Given the description of an element on the screen output the (x, y) to click on. 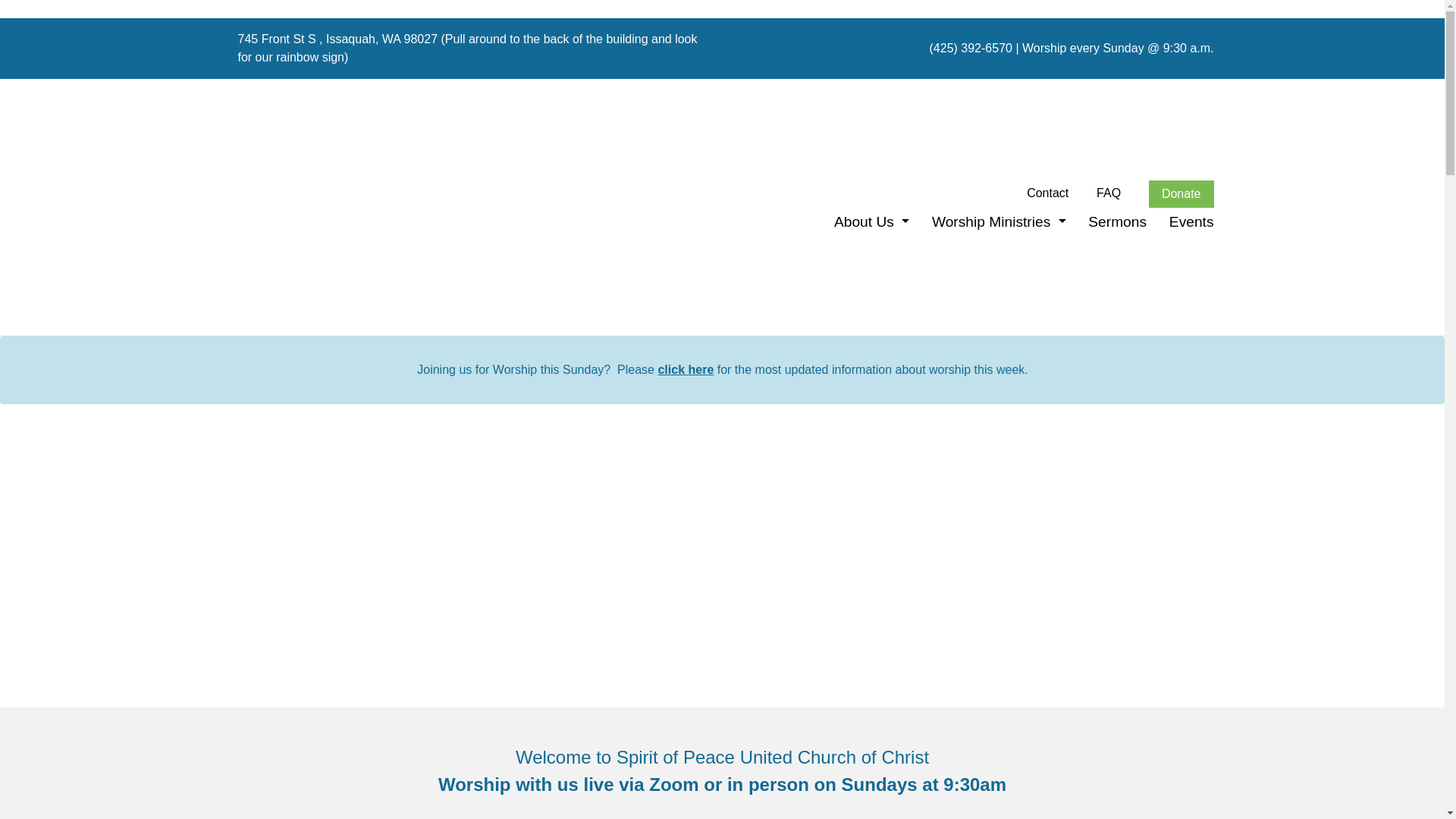
Contact (1047, 192)
About Us (871, 221)
FAQ (1108, 192)
Sermons (1117, 221)
Events (1191, 221)
click here (685, 369)
Donate (1181, 194)
Worship Ministries (998, 221)
